Given the description of an element on the screen output the (x, y) to click on. 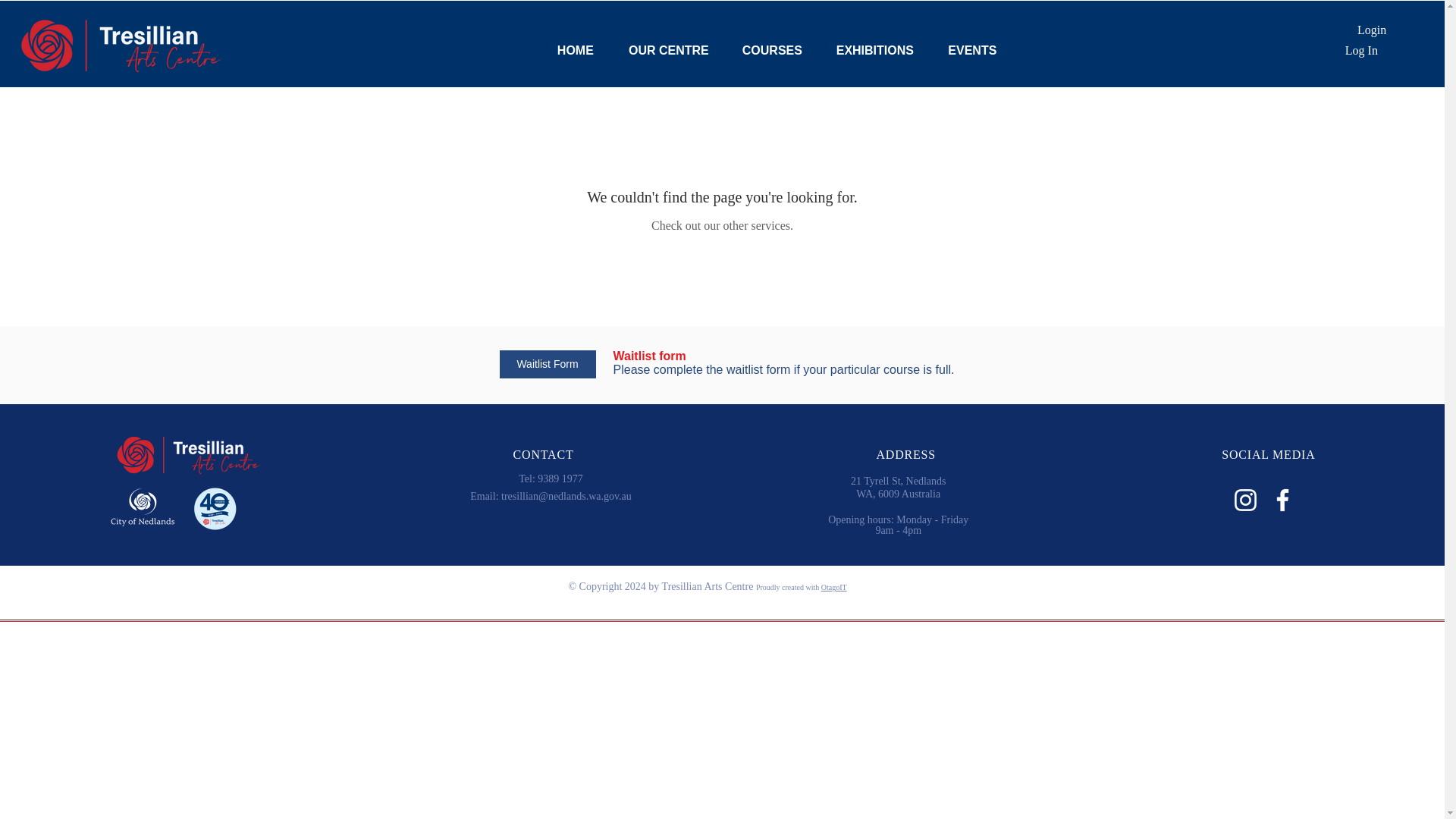
HOME (575, 50)
Nedlands (925, 480)
EVENTS (972, 50)
21 Tyrell St,  (877, 480)
OUR CENTRE (667, 50)
EXHIBITIONS (874, 50)
Waitlist Form (547, 364)
WA, 6009  (900, 500)
OtagoIT (834, 587)
Log In (1362, 50)
